Given the description of an element on the screen output the (x, y) to click on. 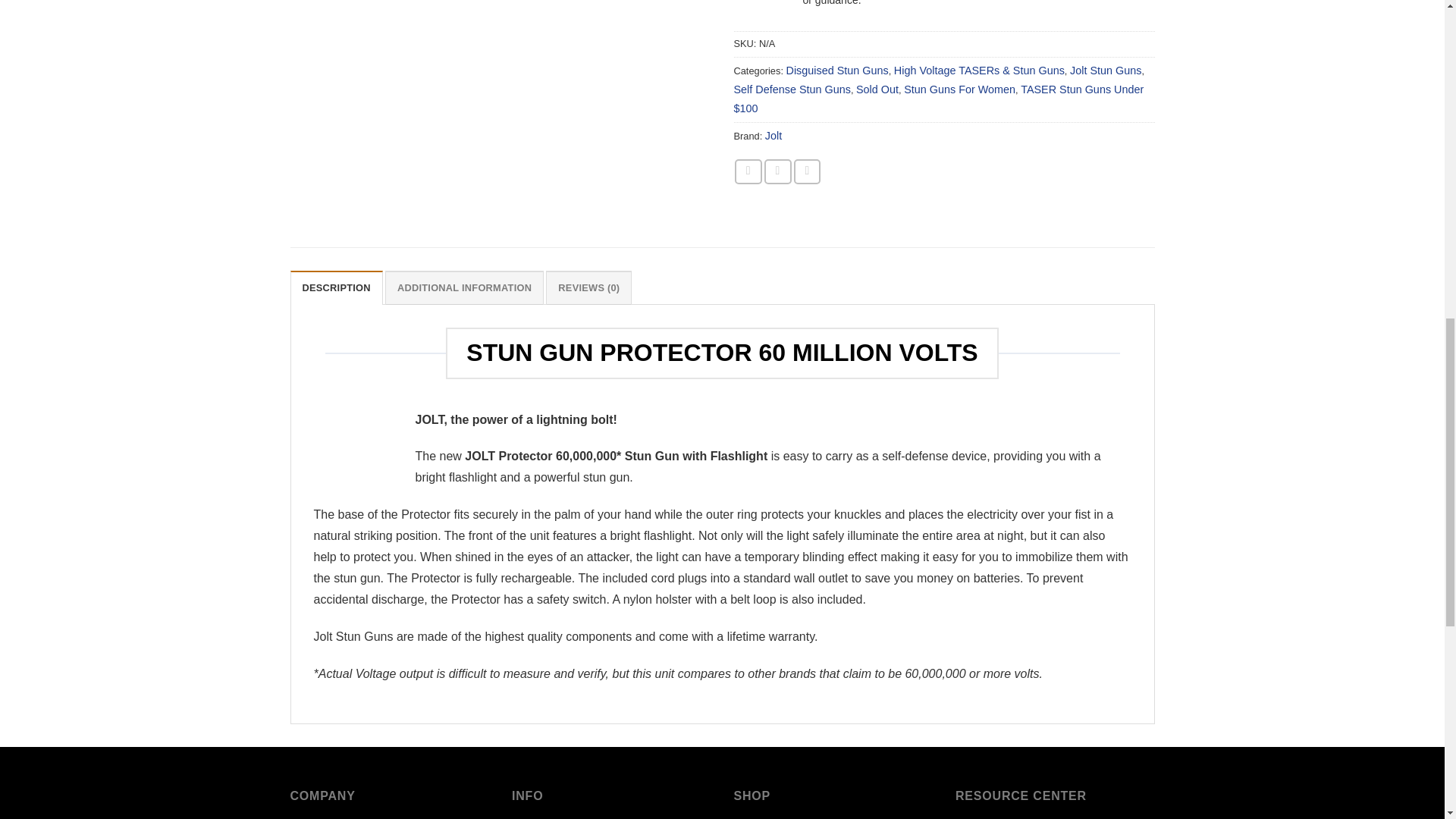
Email to a Friend (807, 171)
Share on Facebook (748, 171)
Share on Twitter (778, 171)
